Given the description of an element on the screen output the (x, y) to click on. 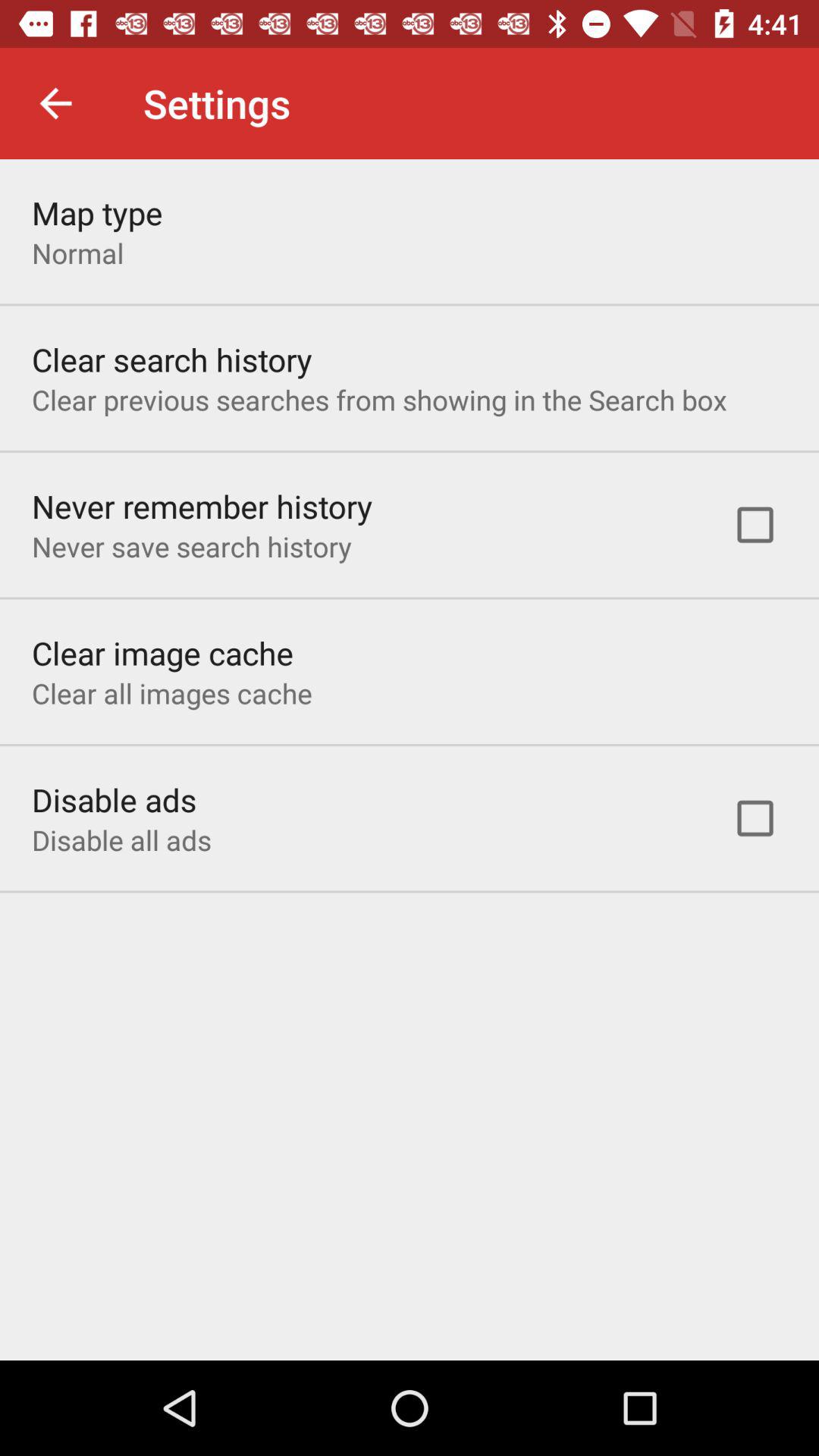
jump until normal item (77, 252)
